Given the description of an element on the screen output the (x, y) to click on. 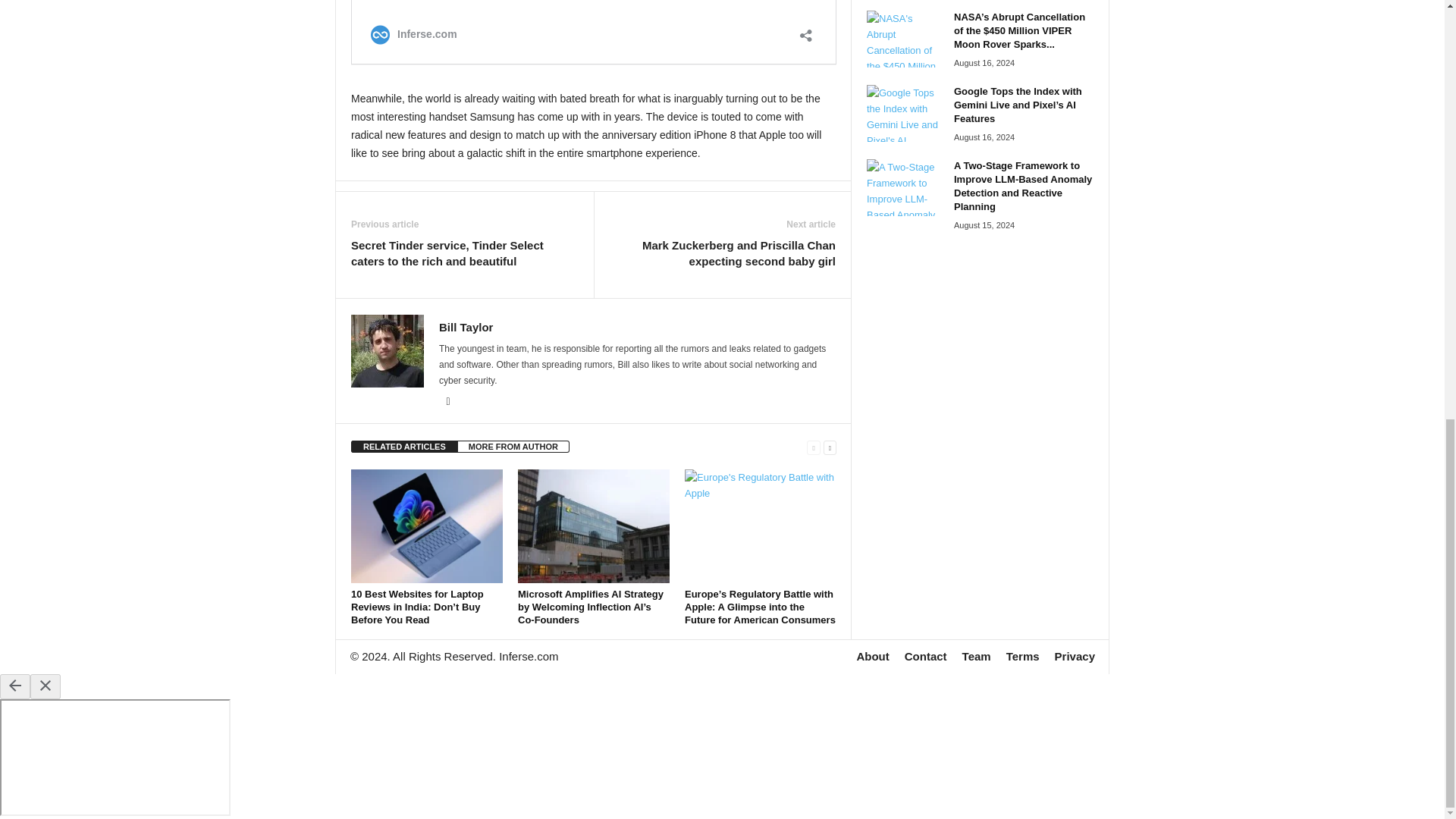
Twitter (448, 401)
RELATED ARTICLES (404, 446)
Bill Taylor (466, 327)
